Given the description of an element on the screen output the (x, y) to click on. 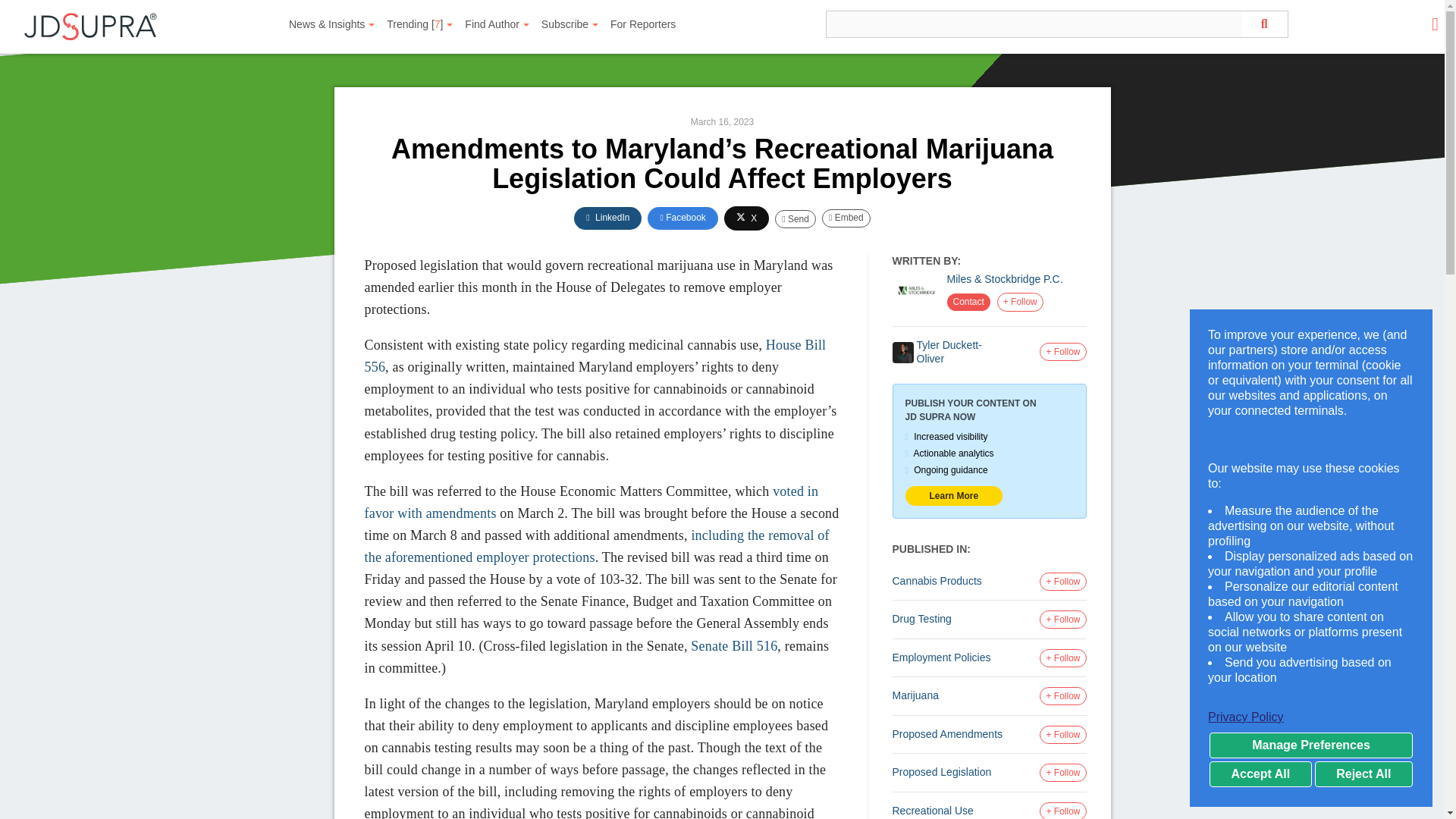
Reject All (1363, 774)
Manage Preferences (1310, 745)
Privacy Policy (1310, 717)
Accept All (1260, 774)
Find Author (496, 23)
